Given the description of an element on the screen output the (x, y) to click on. 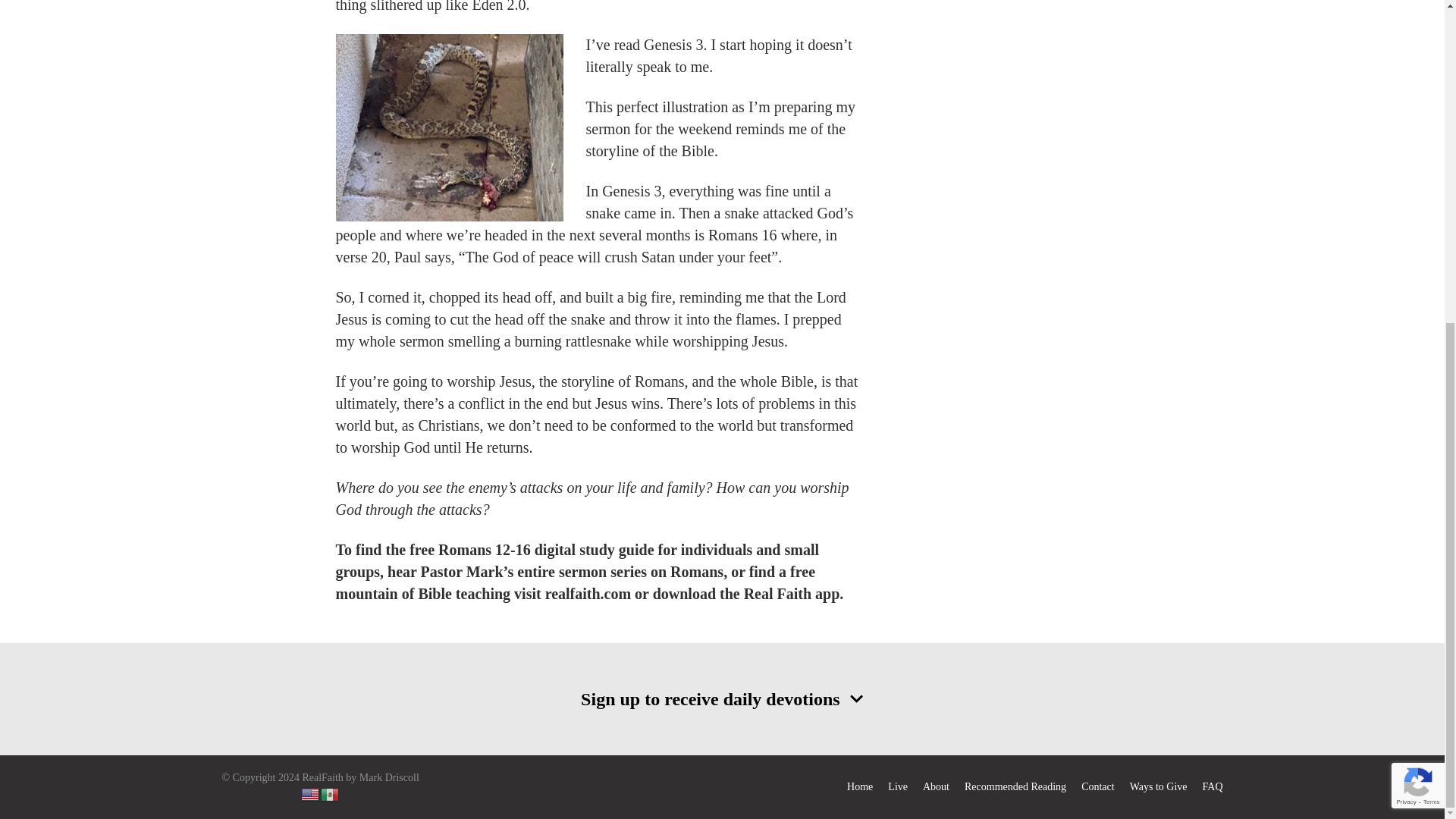
English (310, 793)
Spanish (330, 793)
